Given the description of an element on the screen output the (x, y) to click on. 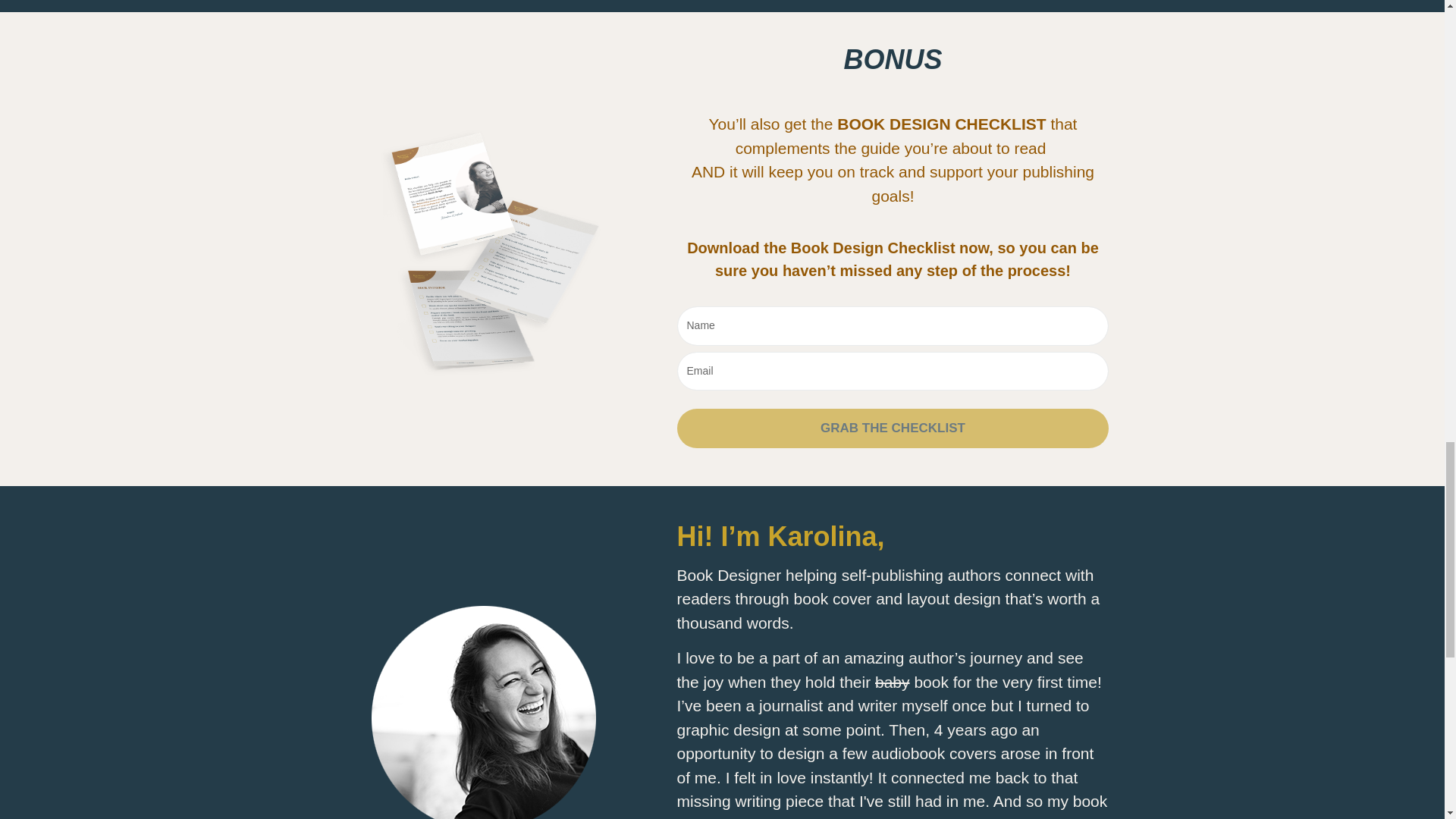
GRAB THE CHECKLIST (892, 427)
